Given the description of an element on the screen output the (x, y) to click on. 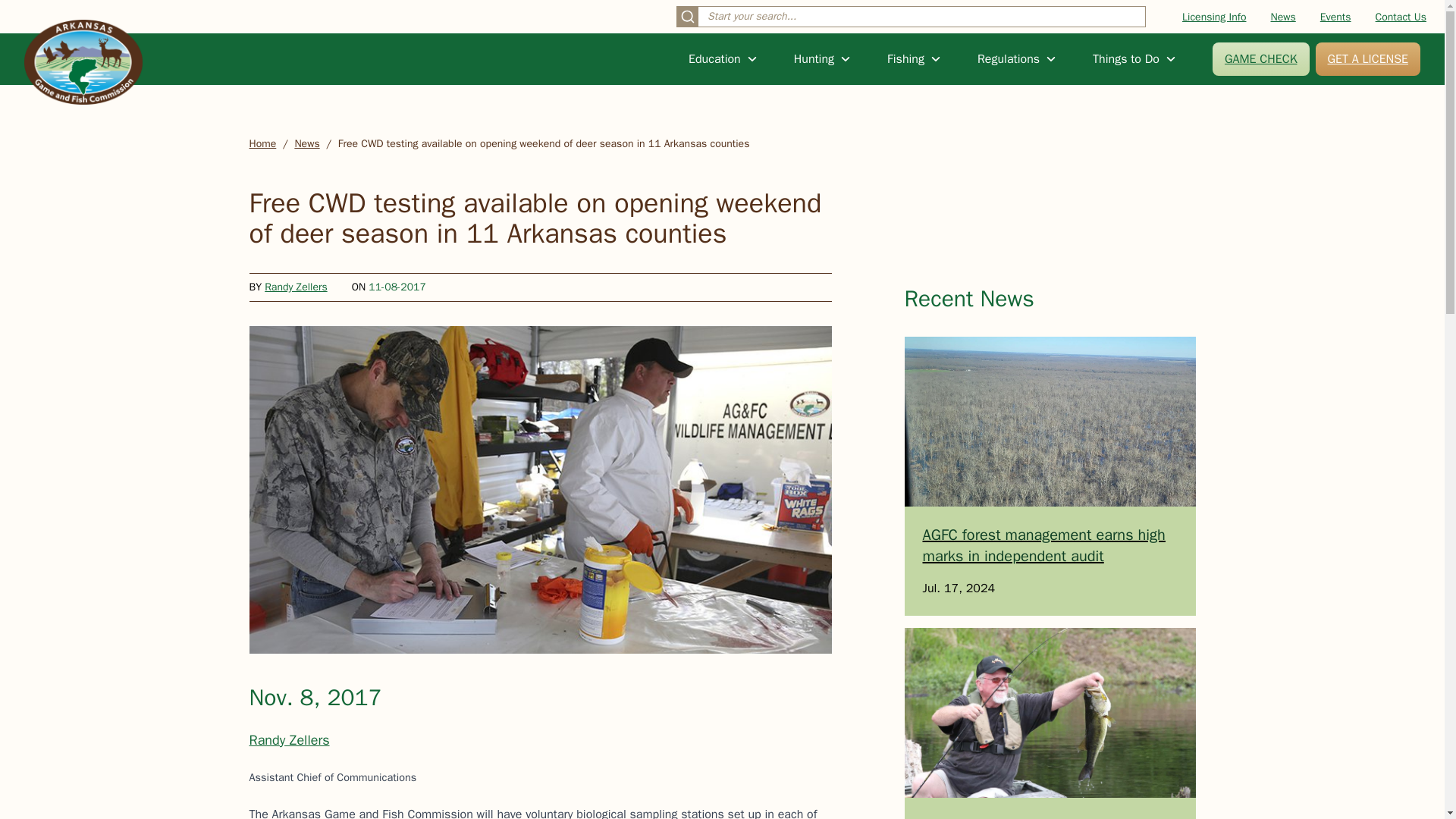
Licensing Info (1214, 16)
News (1283, 16)
Submit (687, 16)
Events (1335, 16)
Education (722, 58)
Hunting (821, 58)
Contact Us (1400, 16)
